Given the description of an element on the screen output the (x, y) to click on. 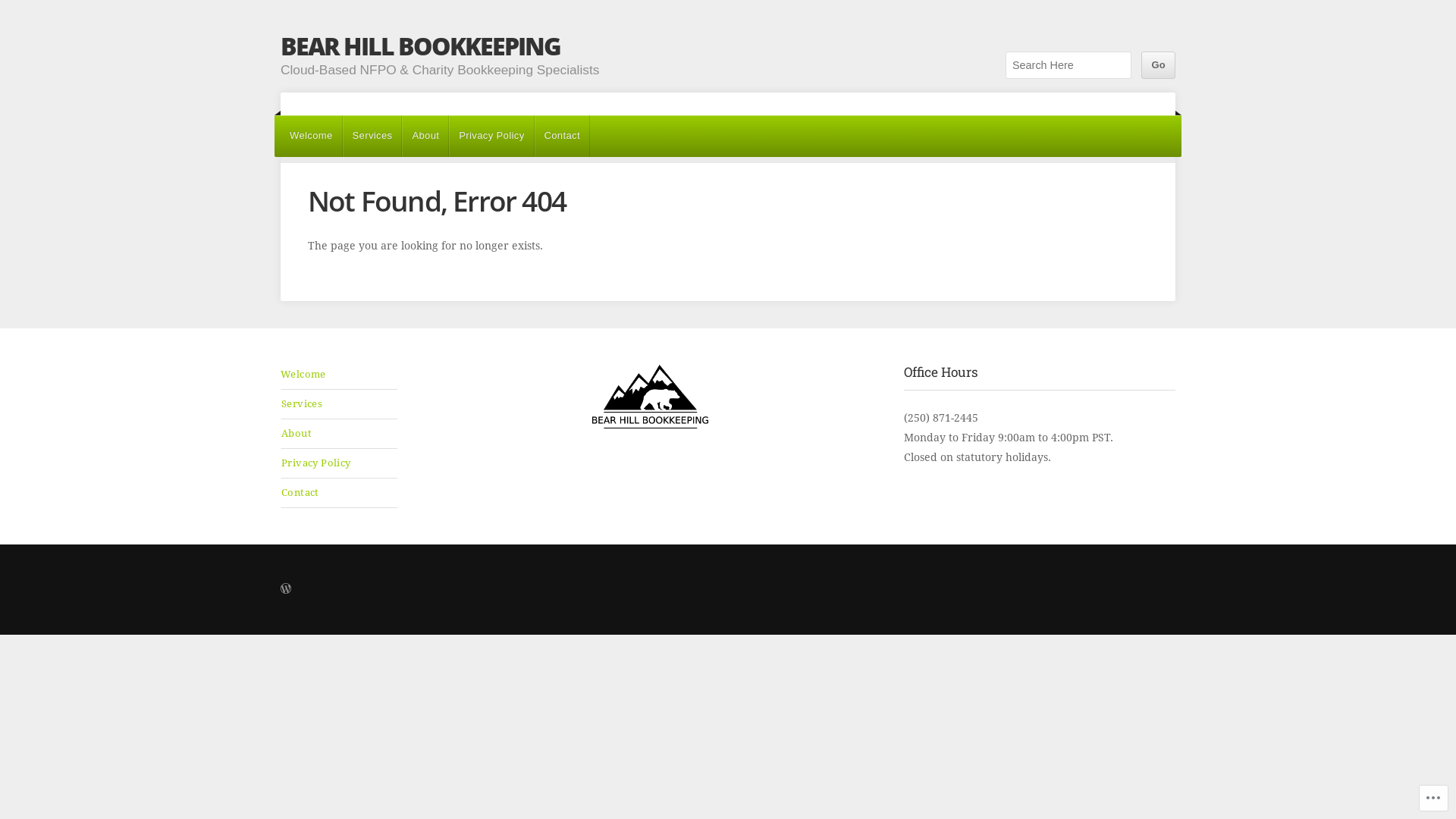
Search for: Element type: hover (1068, 64)
About Element type: text (425, 135)
Go Element type: text (1158, 64)
BEAR HILL BOOKKEEPING Element type: text (420, 45)
Services Element type: text (372, 135)
Create a website or blog at WordPress.com Element type: text (285, 589)
Welcome Element type: text (311, 135)
Privacy Policy Element type: text (339, 463)
Contact Element type: text (562, 135)
About Element type: text (339, 433)
Welcome Element type: text (338, 374)
Privacy Policy Element type: text (491, 135)
Contact Element type: text (339, 492)
Services Element type: text (339, 404)
